Given the description of an element on the screen output the (x, y) to click on. 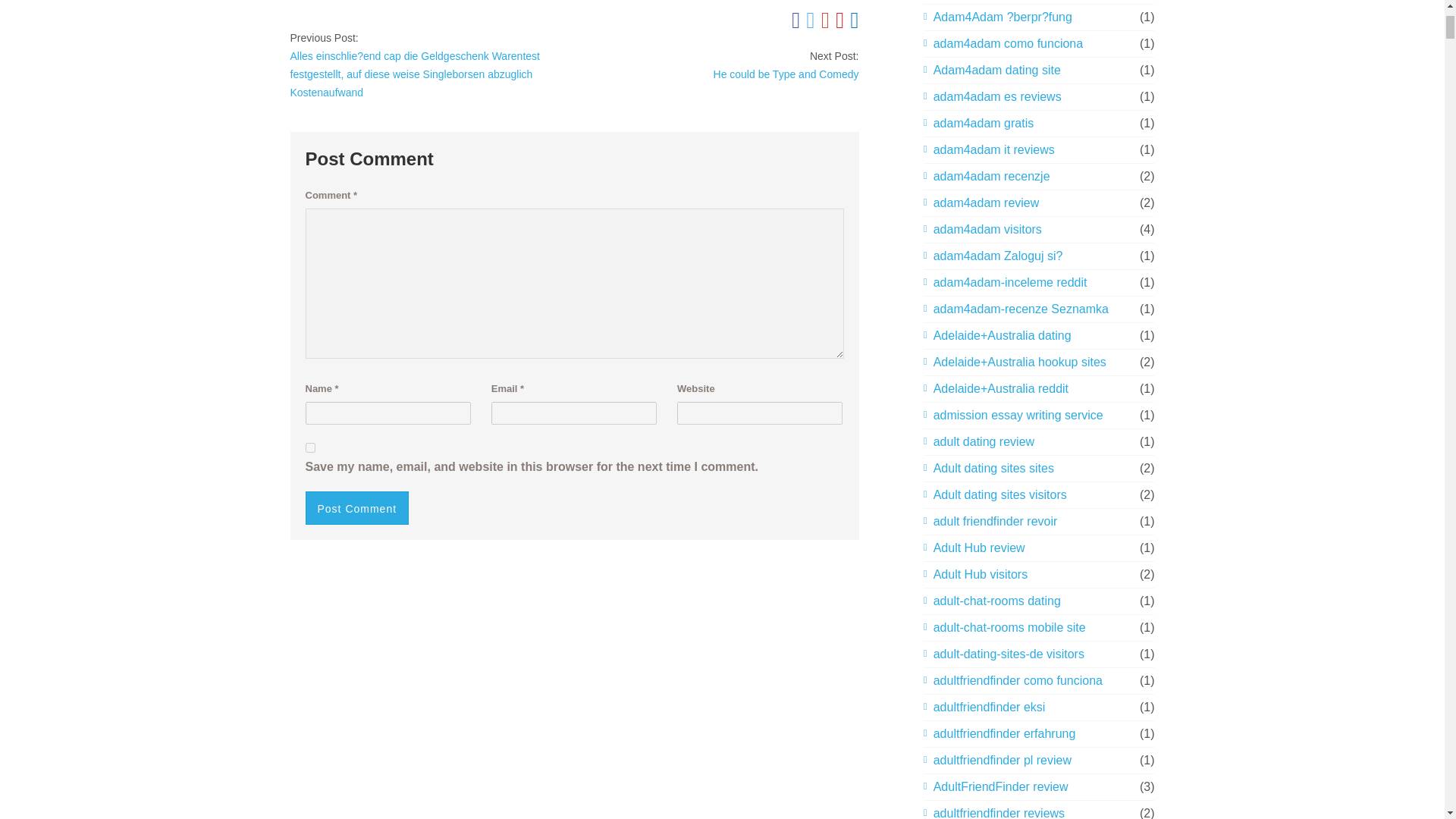
yes (309, 447)
Post Comment (356, 507)
